Given the description of an element on the screen output the (x, y) to click on. 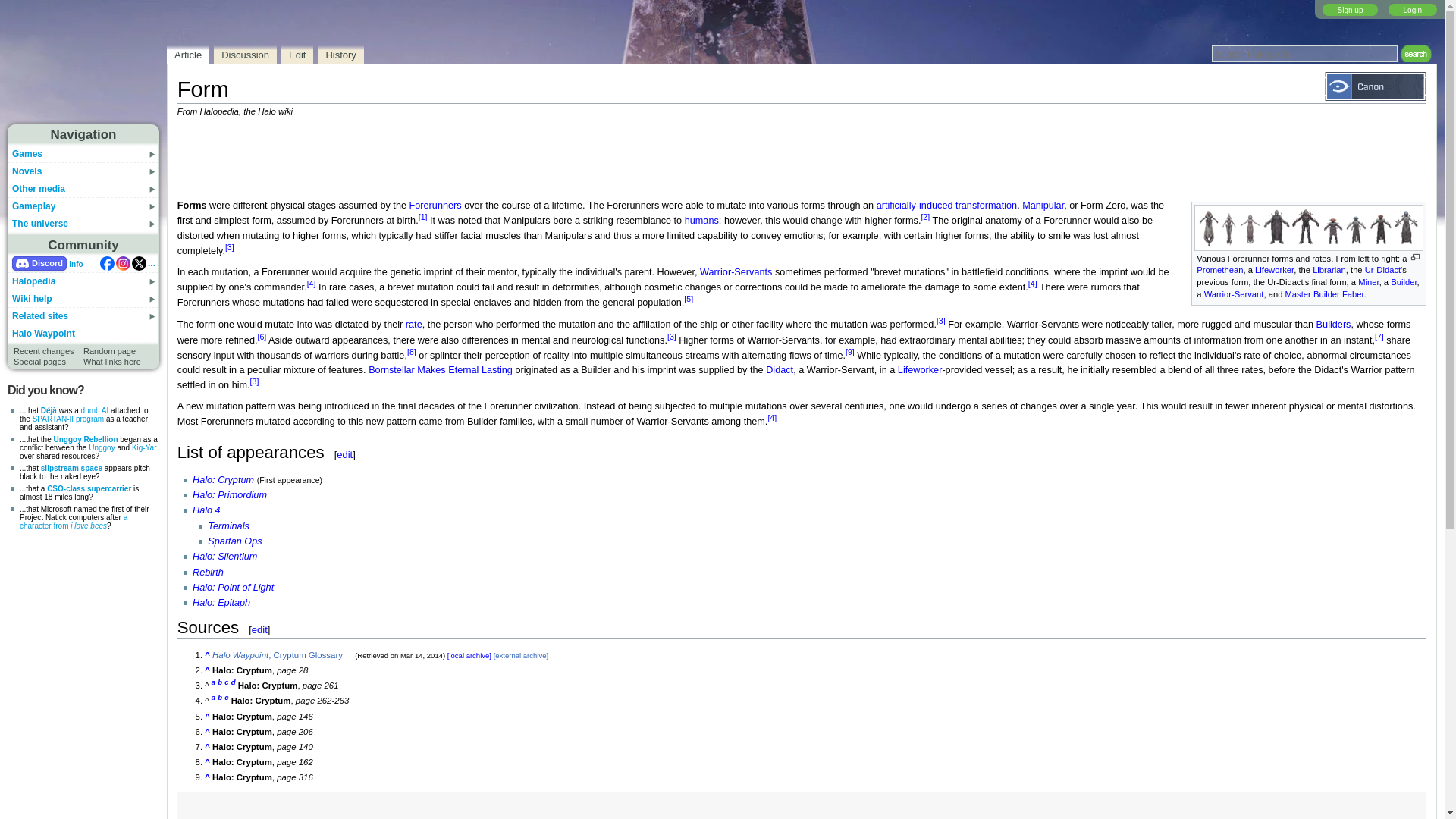
About Discord (75, 263)
Slipstream space (70, 468)
Search the pages for this text (1414, 53)
Games (26, 153)
X (139, 263)
Instagram (123, 263)
SPARTAN-II program (67, 418)
Login (1413, 9)
Unggoy Rebellion (84, 438)
Dumb AI (95, 410)
